Given the description of an element on the screen output the (x, y) to click on. 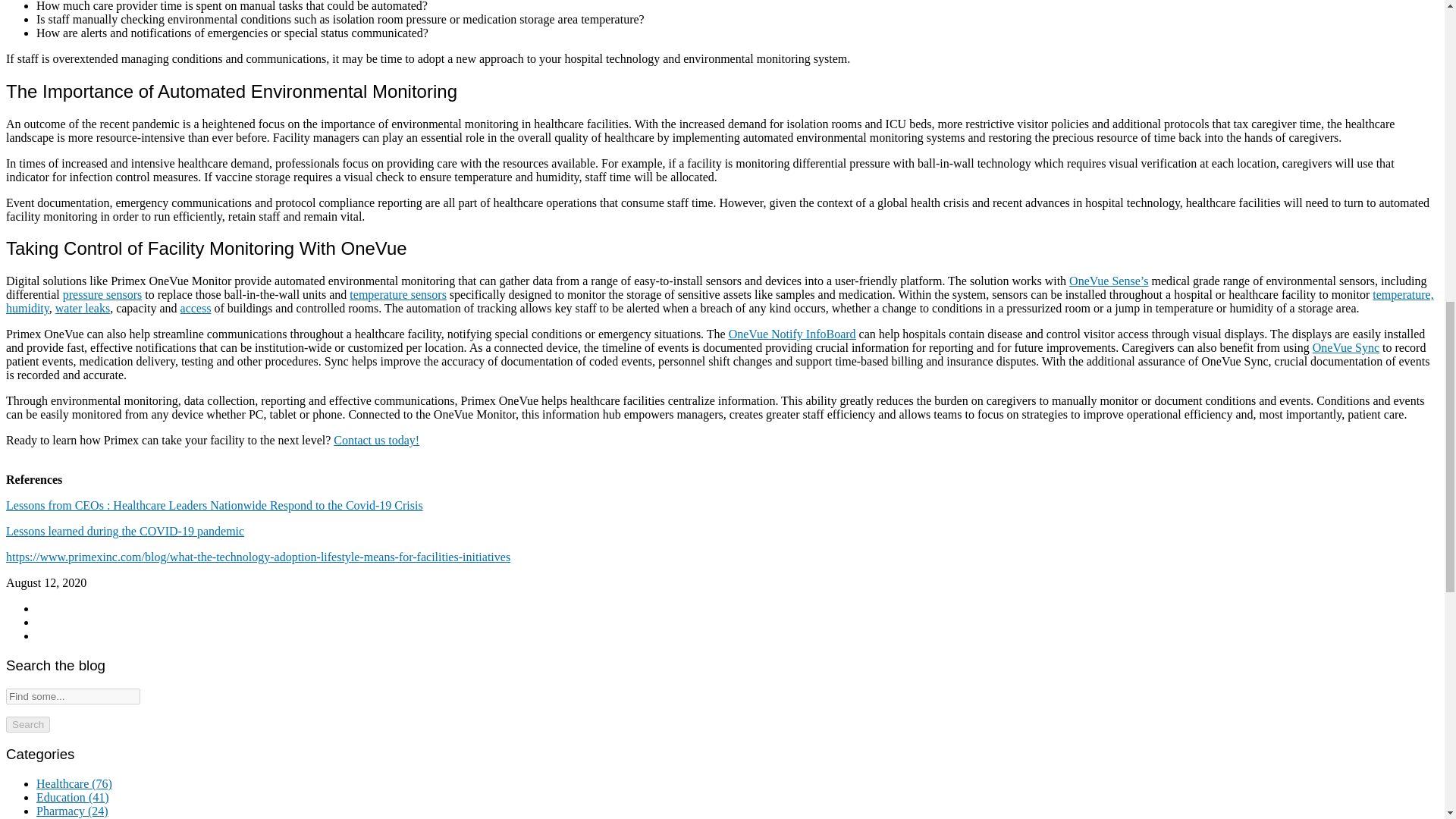
Search (27, 724)
Healthcare (74, 783)
Pharmacy (71, 810)
Education (72, 797)
